Given the description of an element on the screen output the (x, y) to click on. 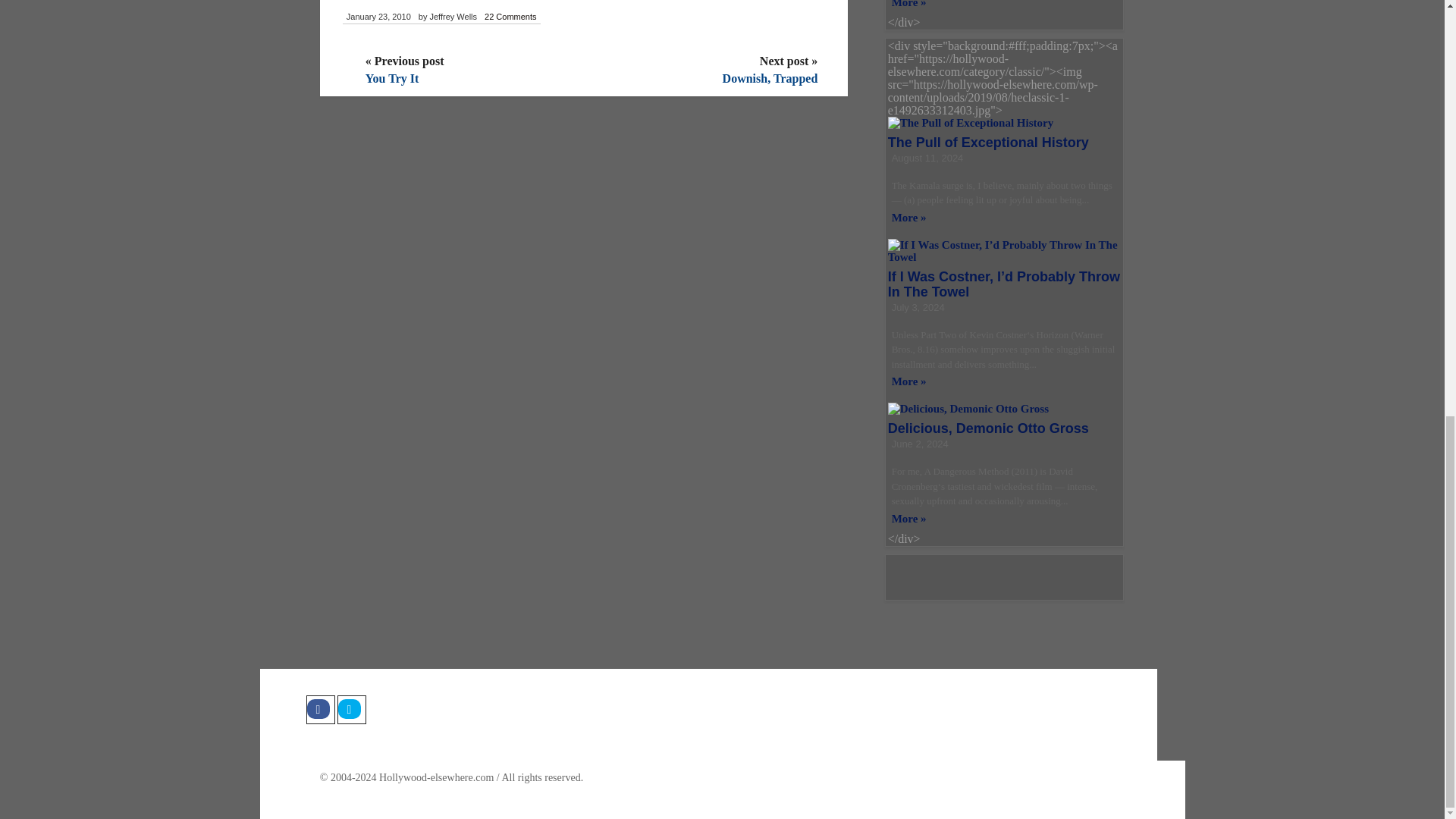
by Jeffrey Wells (447, 17)
22 Comments (510, 17)
Facebook (319, 709)
Twitter (350, 709)
January 23, 2010 (378, 17)
